Given the description of an element on the screen output the (x, y) to click on. 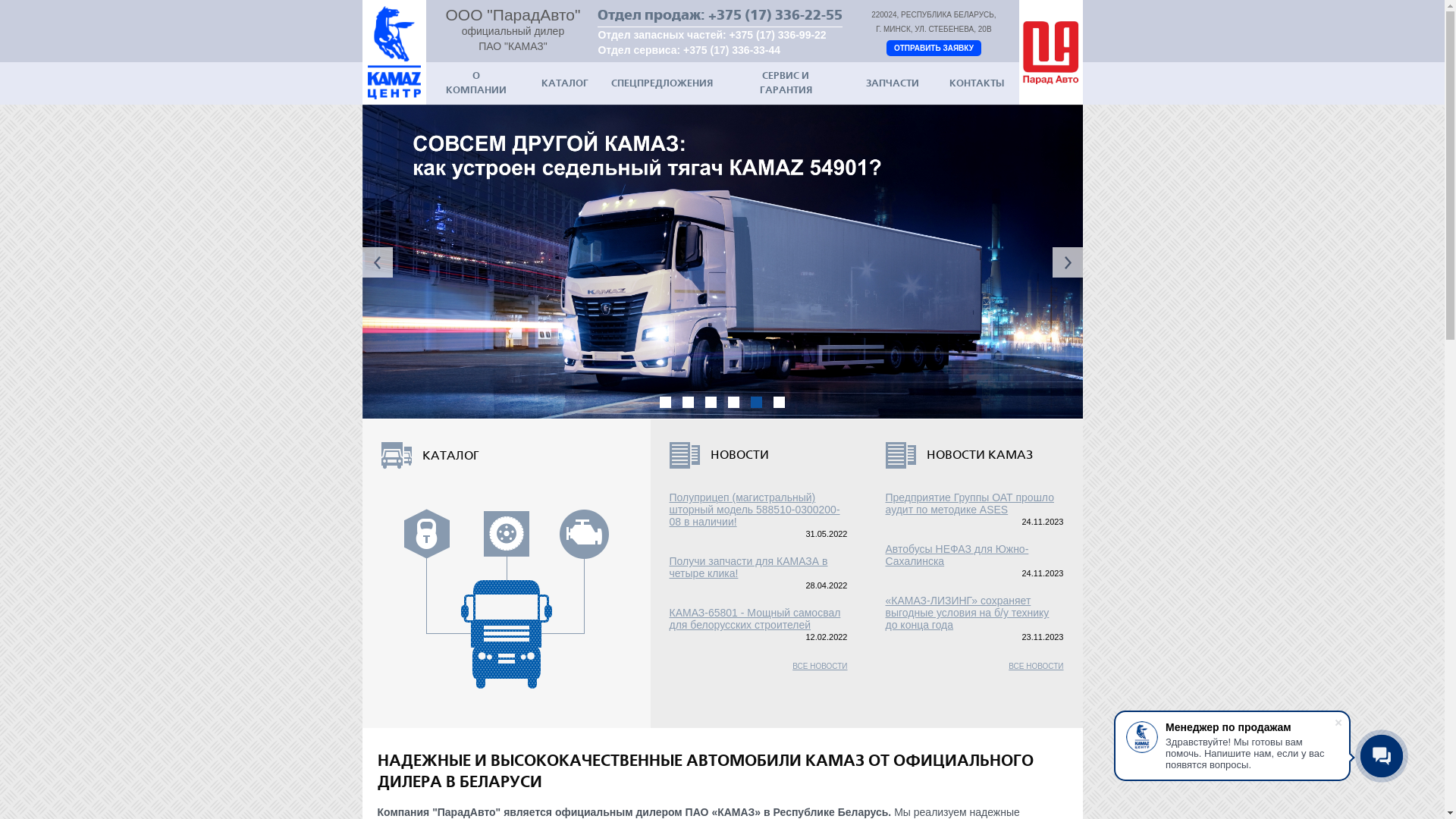
+375 (17) 336-33-44 Element type: text (731, 49)
+375 (17) 336-22-55 Element type: text (775, 14)
+375 (17) 336-99-22 Element type: text (777, 34)
